Given the description of an element on the screen output the (x, y) to click on. 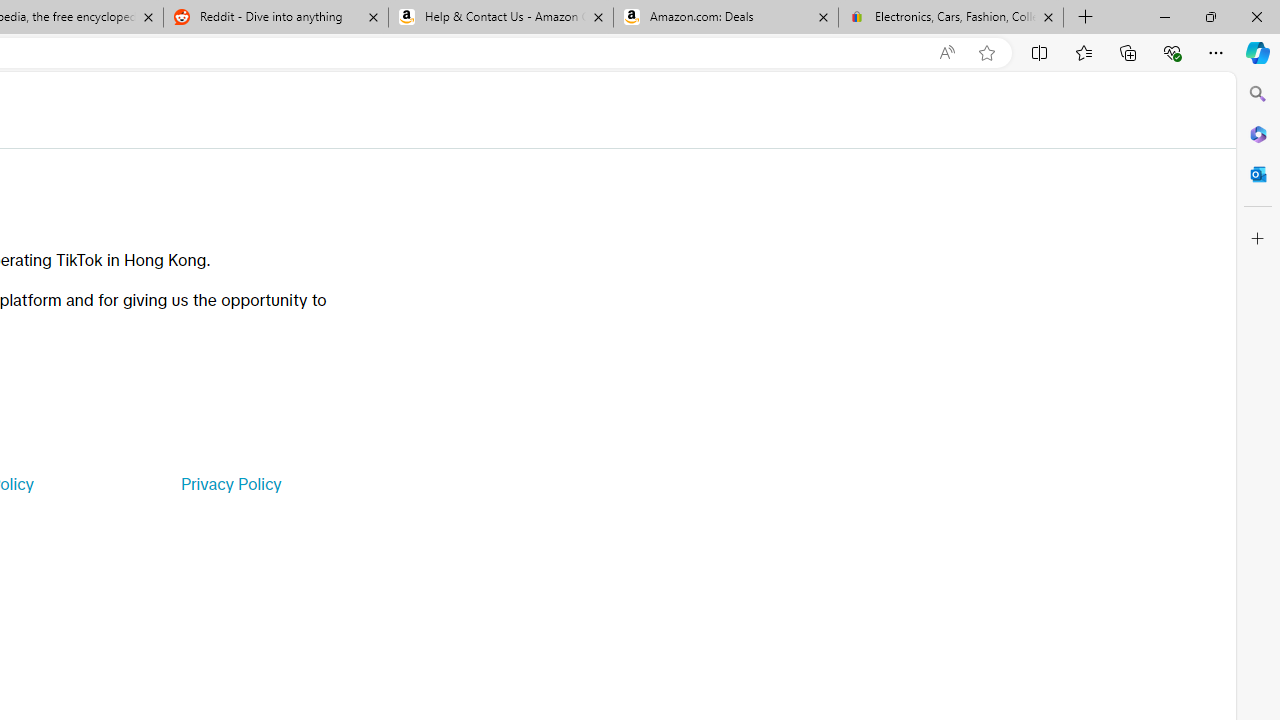
Close Outlook pane (1258, 174)
